Given the description of an element on the screen output the (x, y) to click on. 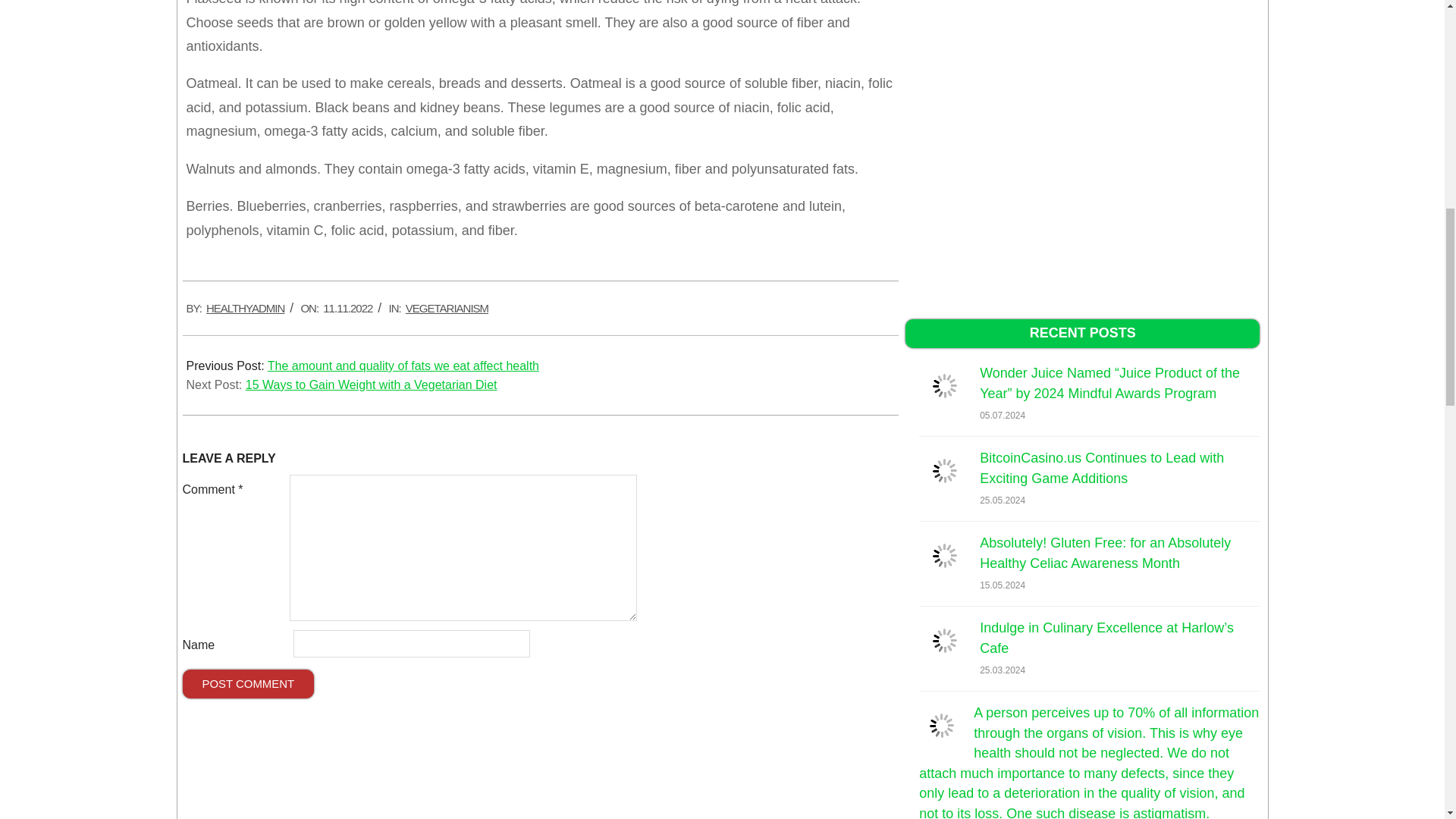
Friday, November 11, 2022, 1:19 pm (347, 308)
Posts by HealthyAdmin (244, 308)
Post Comment (248, 684)
